Given the description of an element on the screen output the (x, y) to click on. 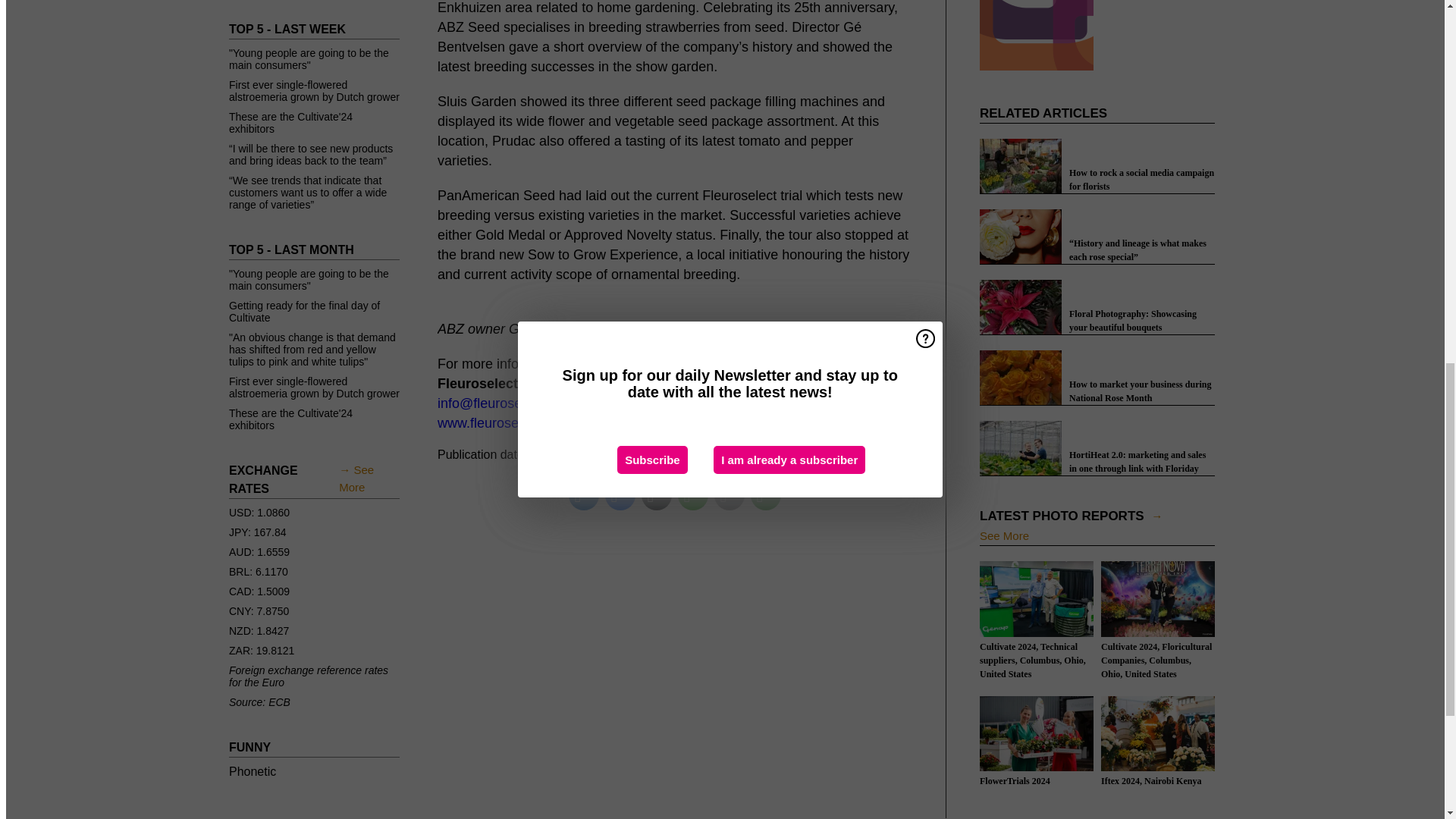
Email This (729, 494)
More Options (766, 494)
LinkedIn (584, 494)
WhatsApp (693, 494)
Facebook (620, 494)
